Given the description of an element on the screen output the (x, y) to click on. 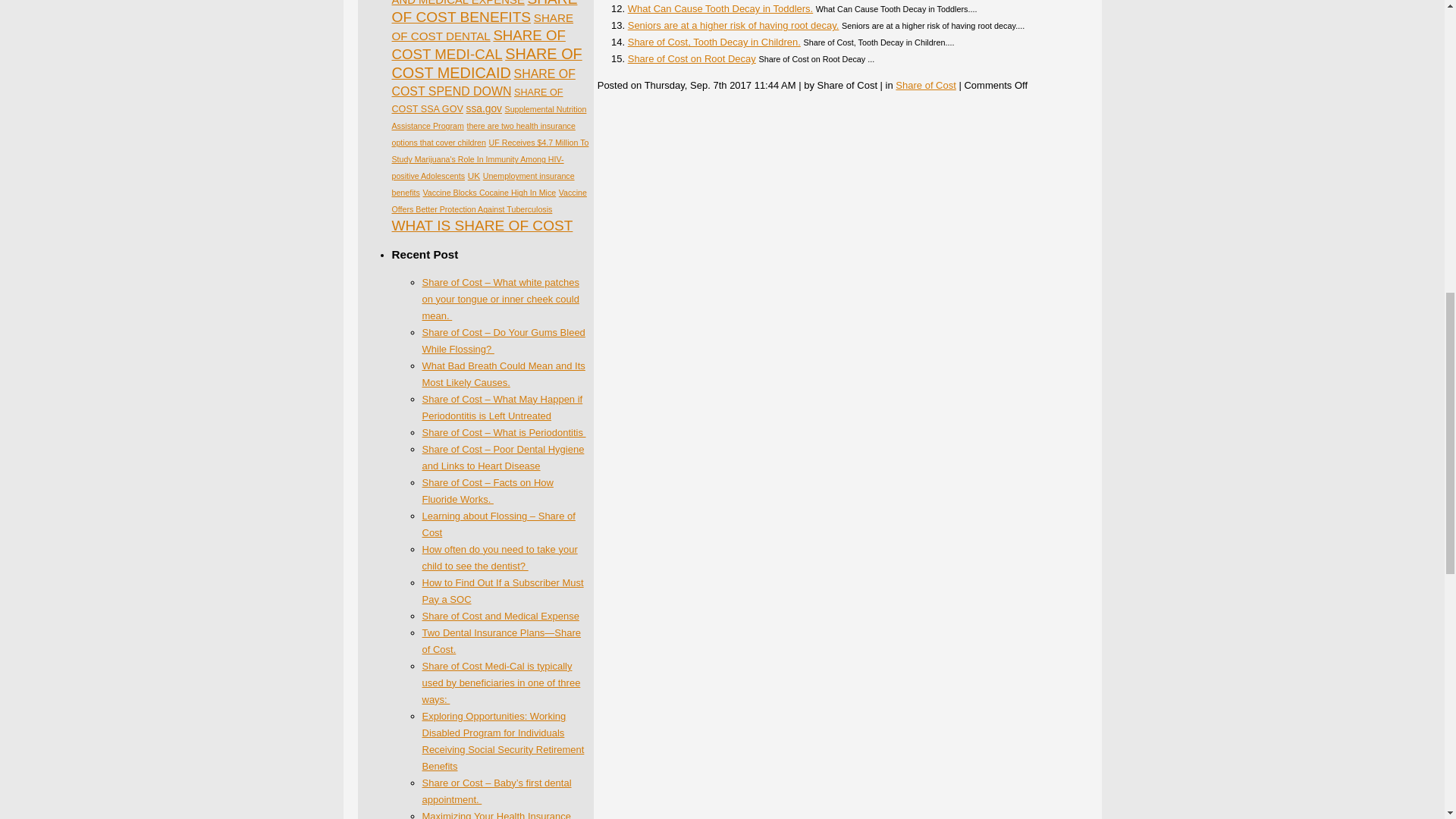
Seniors are at a higher risk of having root decay. (733, 25)
SHARE OF COST MEDI-CAL (477, 44)
SHARE OF COST BENEFITS (483, 12)
SHARE OF COST AND MEDICAL EXPENSE (488, 2)
SHARE OF COST MEDICAID (485, 63)
SHARE OF COST DENTAL (482, 26)
SHARE OF COST SPEND DOWN (483, 82)
What Can Cause Tooth Decay in Toddlers. (720, 8)
Share of Cost, Tooth Decay in Children. (713, 41)
